Given the description of an element on the screen output the (x, y) to click on. 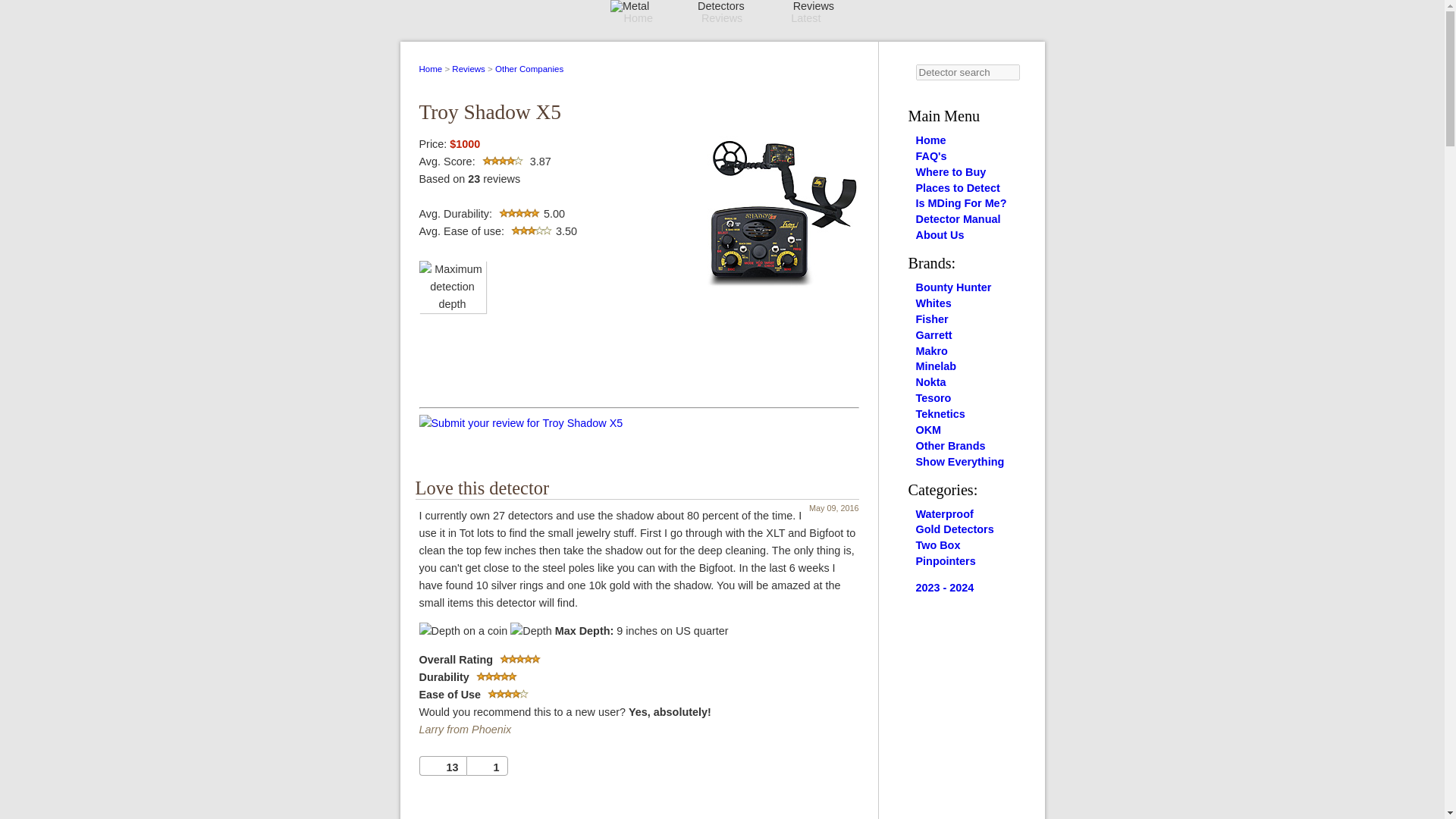
OKM (928, 429)
Show Everything (959, 461)
Latest (805, 18)
Home (430, 68)
Gold Detectors (954, 529)
Pinpointers (945, 561)
Teknetics (940, 413)
Bounty Hunter (953, 287)
Minelab (935, 366)
Two Box (937, 544)
Home (637, 18)
Reviews (467, 68)
FAQ's (931, 155)
Waterproof (944, 513)
About Us (939, 234)
